Given the description of an element on the screen output the (x, y) to click on. 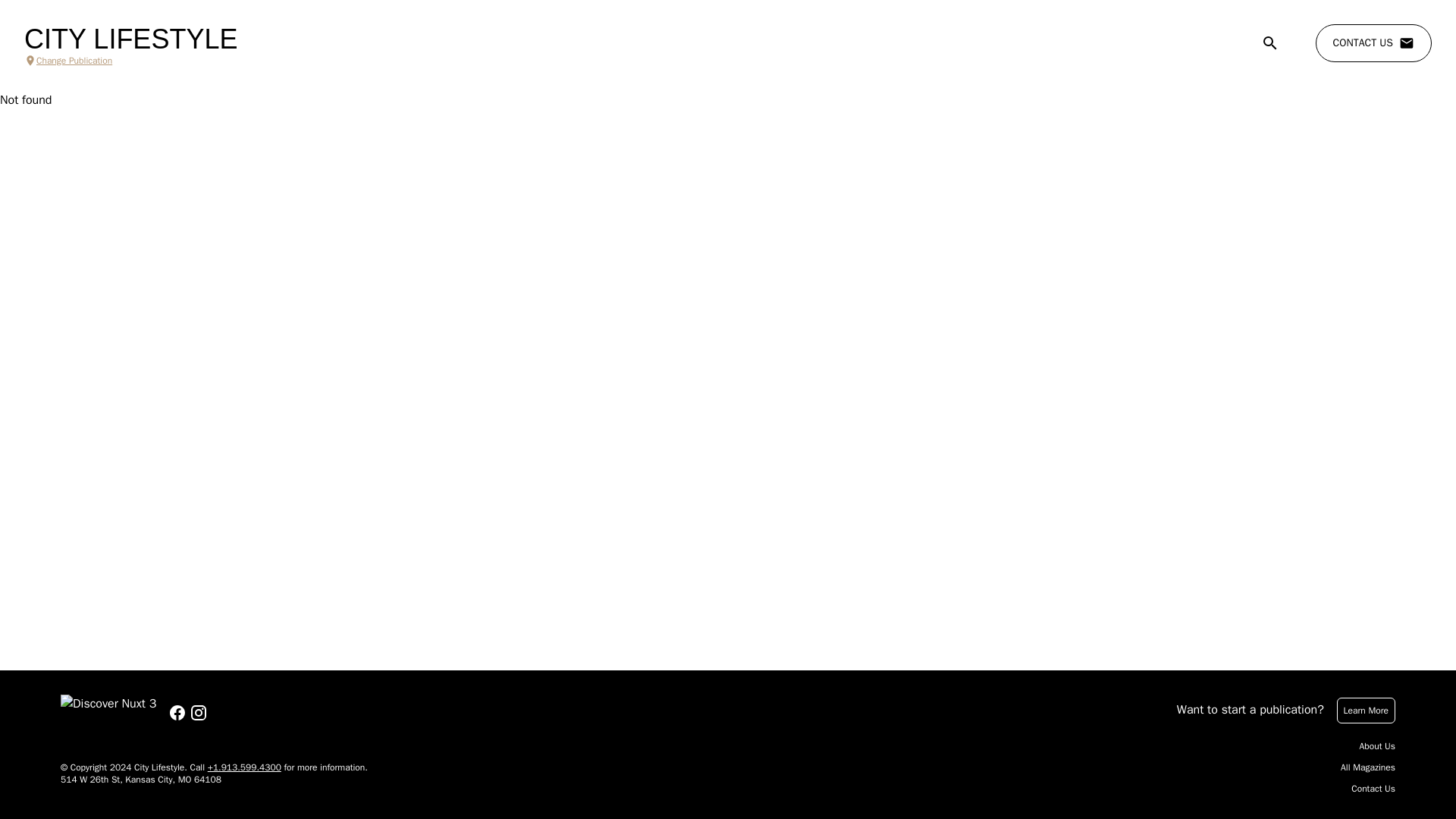
Contact Us (1372, 788)
About Us (1376, 746)
Learn More (1365, 710)
Change Publication (130, 60)
CITY LIFESTYLE (130, 39)
CONTACT US (1373, 43)
All Magazines (1367, 767)
